Given the description of an element on the screen output the (x, y) to click on. 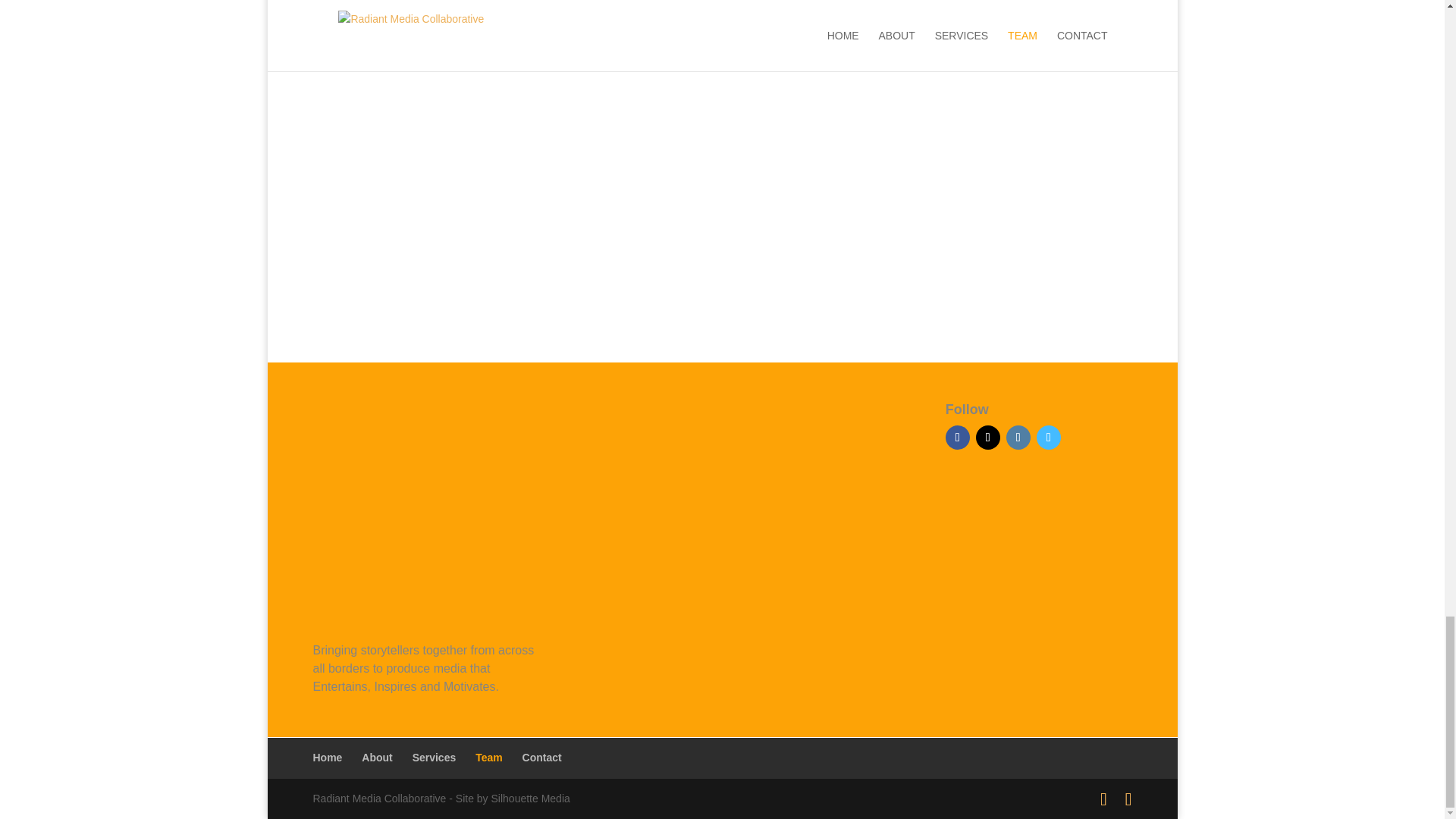
Services (434, 757)
About (376, 757)
Follow on Facebook (956, 437)
Contact (542, 757)
Home (327, 757)
Follow on Twitter (987, 437)
Follow on Instagram (1018, 437)
Follow on Vimeo (1048, 437)
Team (489, 757)
